Given the description of an element on the screen output the (x, y) to click on. 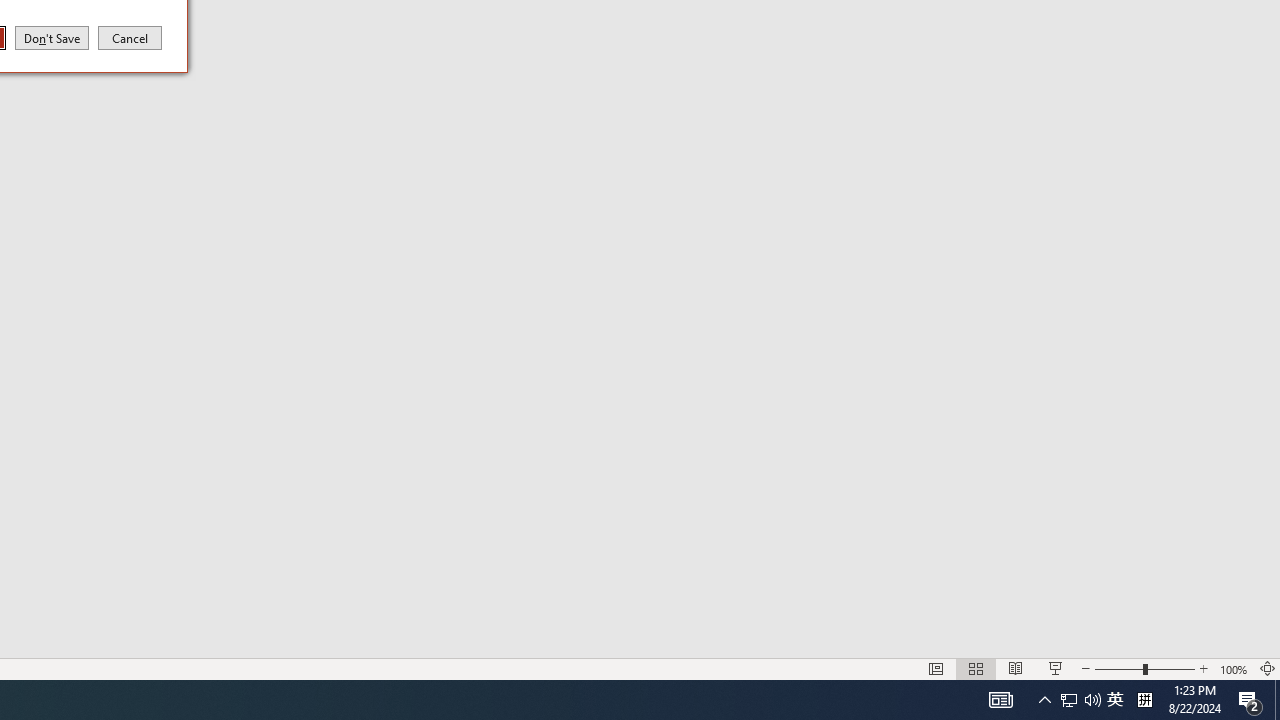
Don't Save (52, 37)
Cancel (130, 37)
Zoom 100% (1234, 668)
